Given the description of an element on the screen output the (x, y) to click on. 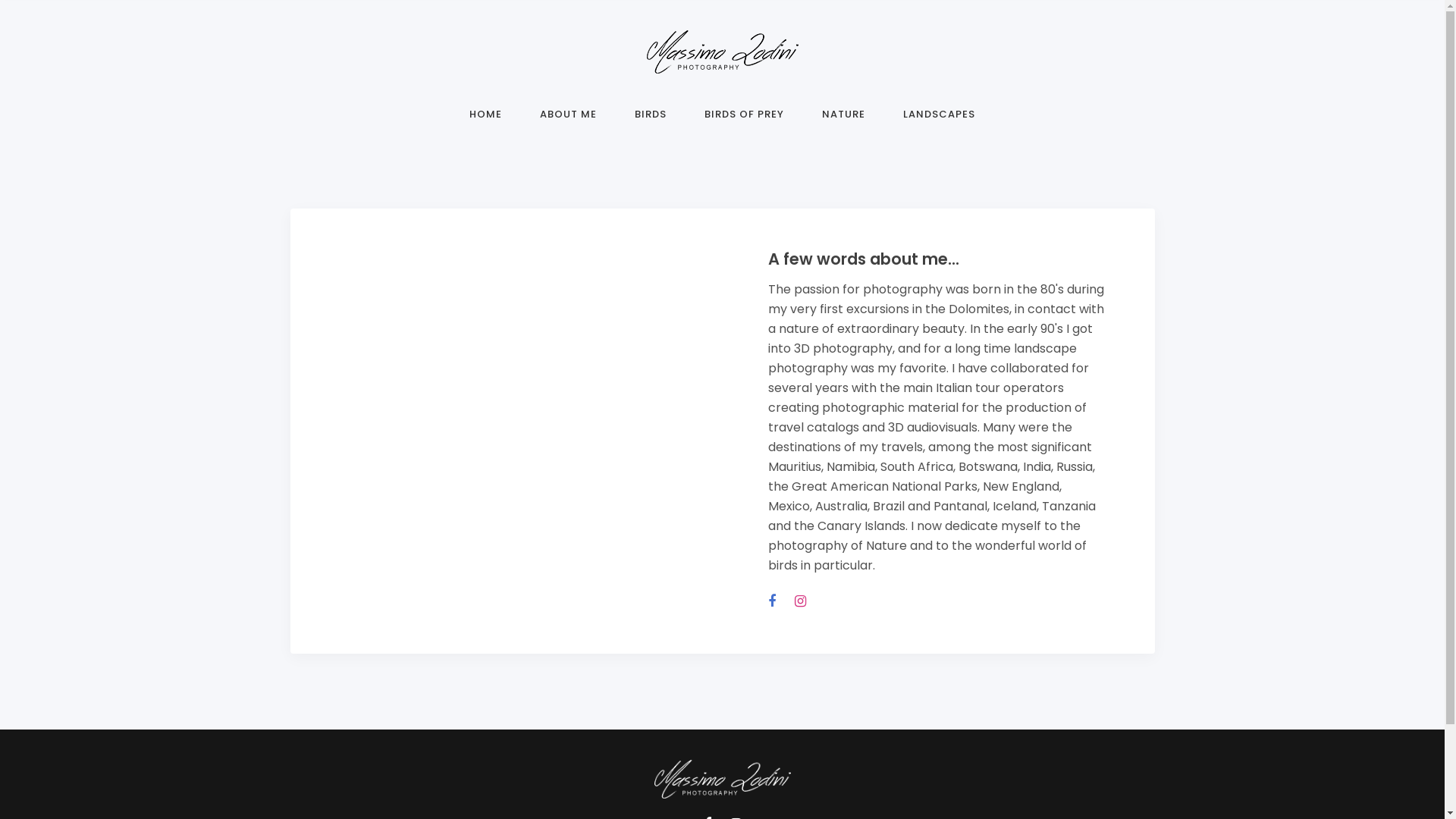
HOME Element type: text (485, 117)
BIRDS Element type: text (650, 117)
ABOUT ME Element type: text (567, 117)
NATURE Element type: text (843, 117)
BIRDS OF PREY Element type: text (744, 117)
LANDSCAPES Element type: text (939, 117)
